Given the description of an element on the screen output the (x, y) to click on. 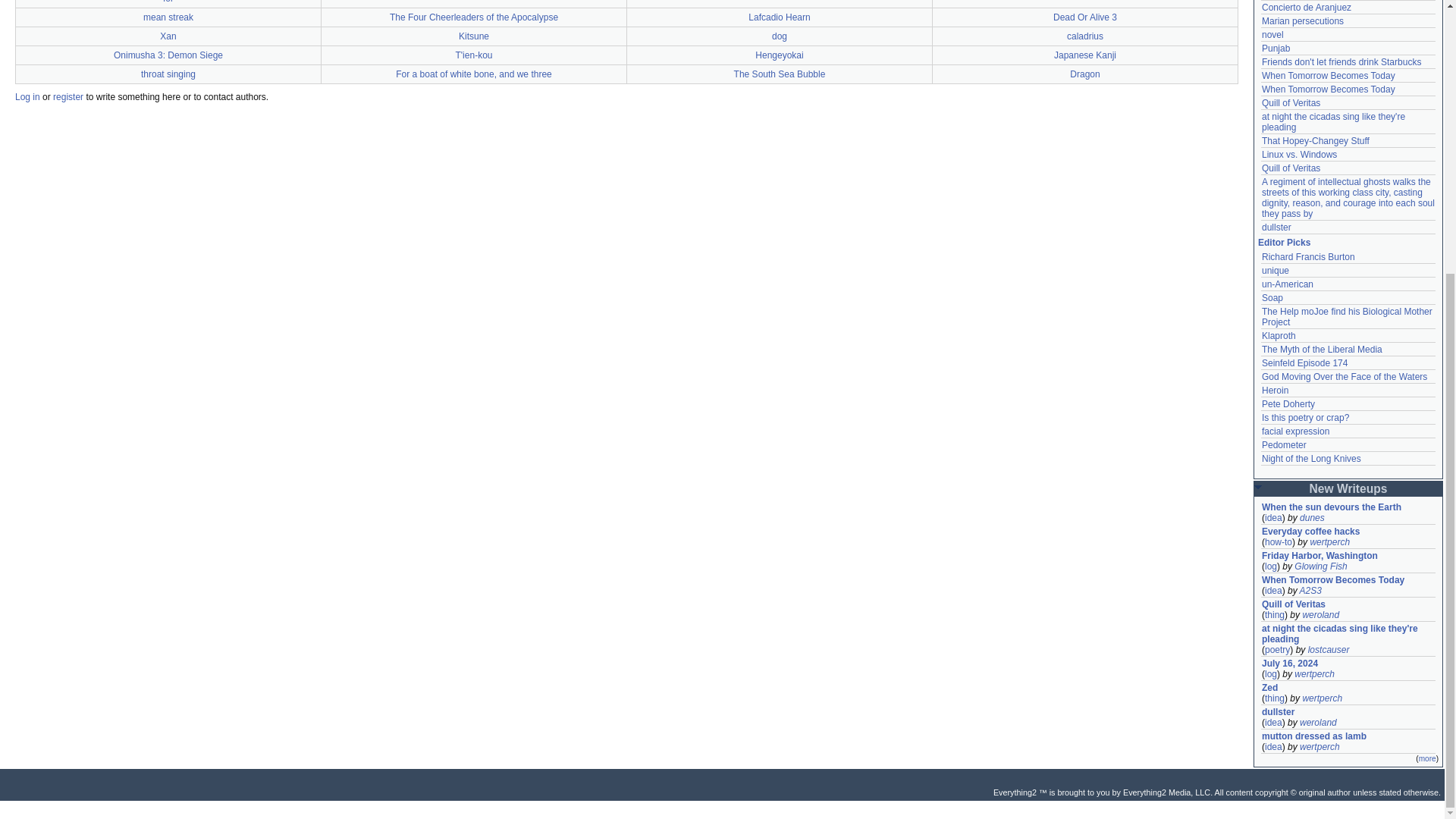
Lafcadio Hearn (778, 16)
The Four Cheerleaders of the Apocalypse (473, 16)
Dead Or Alive 3 (1084, 16)
Xan (168, 36)
mean streak (167, 16)
Kitsune (473, 36)
